Given the description of an element on the screen output the (x, y) to click on. 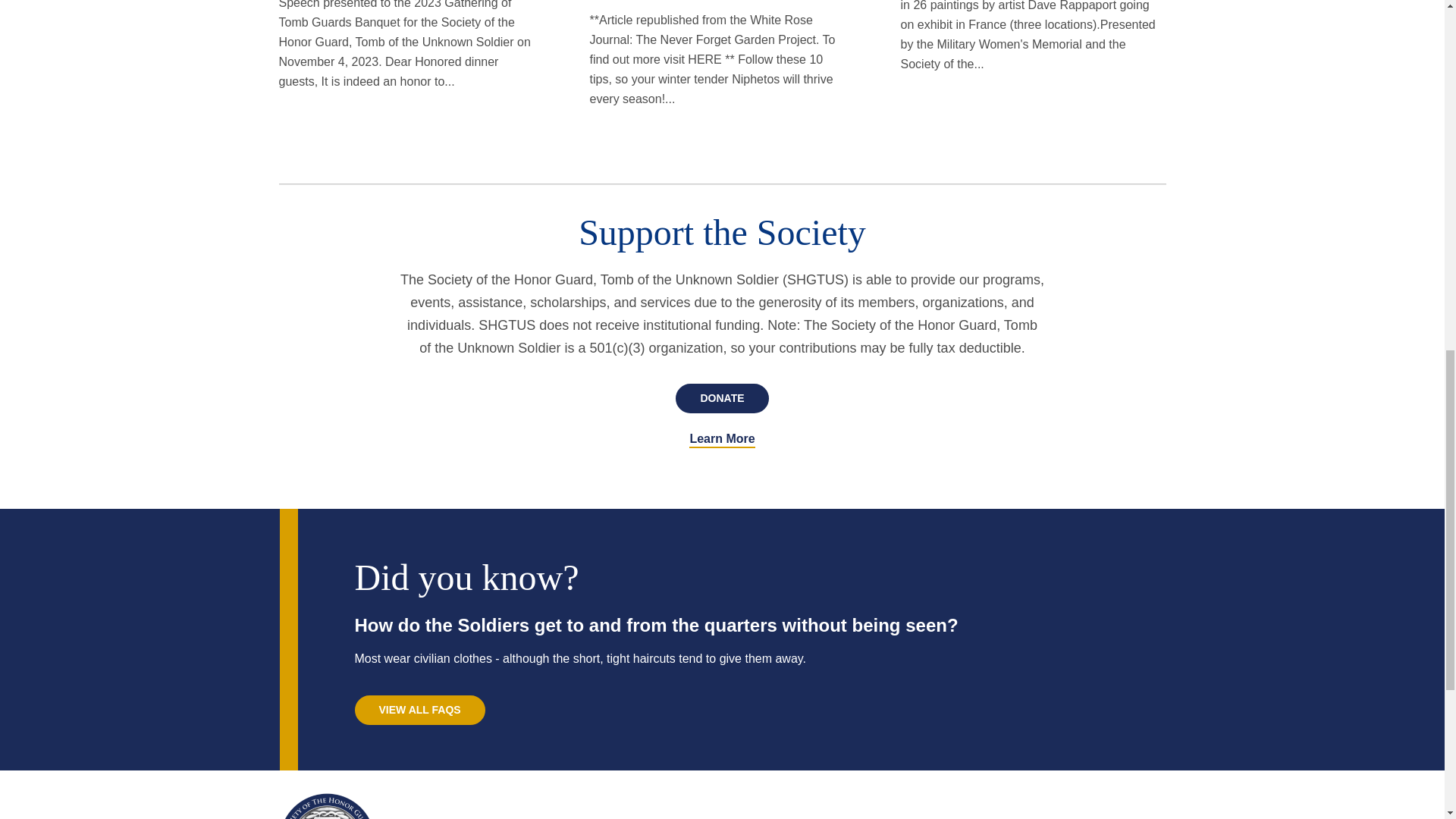
DONATE (499, 806)
VIEW ALL FAQS (721, 398)
Learn More (419, 709)
